Given the description of an element on the screen output the (x, y) to click on. 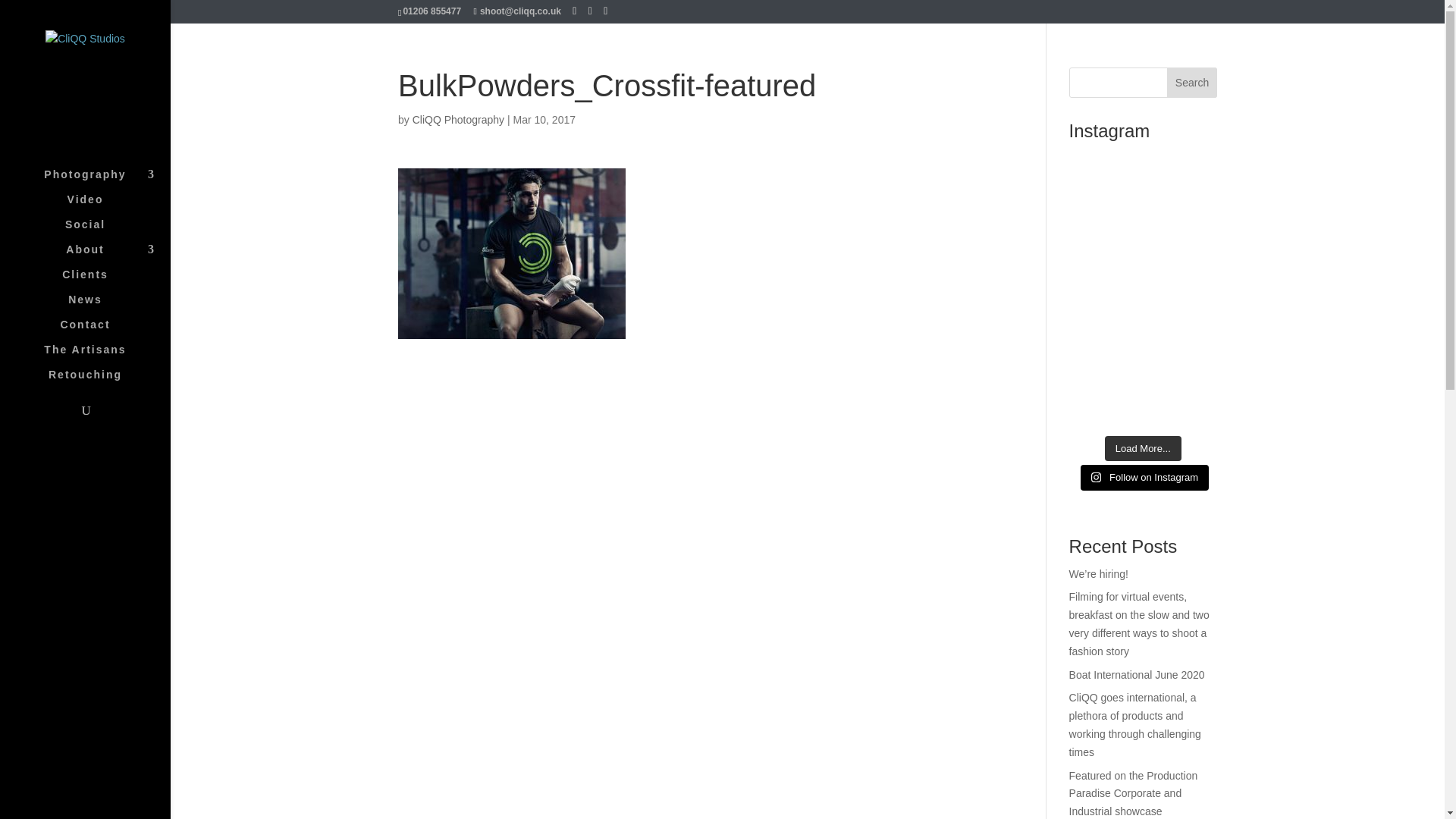
Clients (100, 281)
Retouching (100, 381)
Social (100, 231)
Search (1192, 82)
Video (100, 206)
Contact (100, 331)
About (100, 256)
The Artisans (100, 356)
Photography (100, 181)
CliQQ Photography (457, 119)
Search (1192, 82)
Video (100, 206)
Posts by CliQQ Photography (457, 119)
News (100, 306)
